Given the description of an element on the screen output the (x, y) to click on. 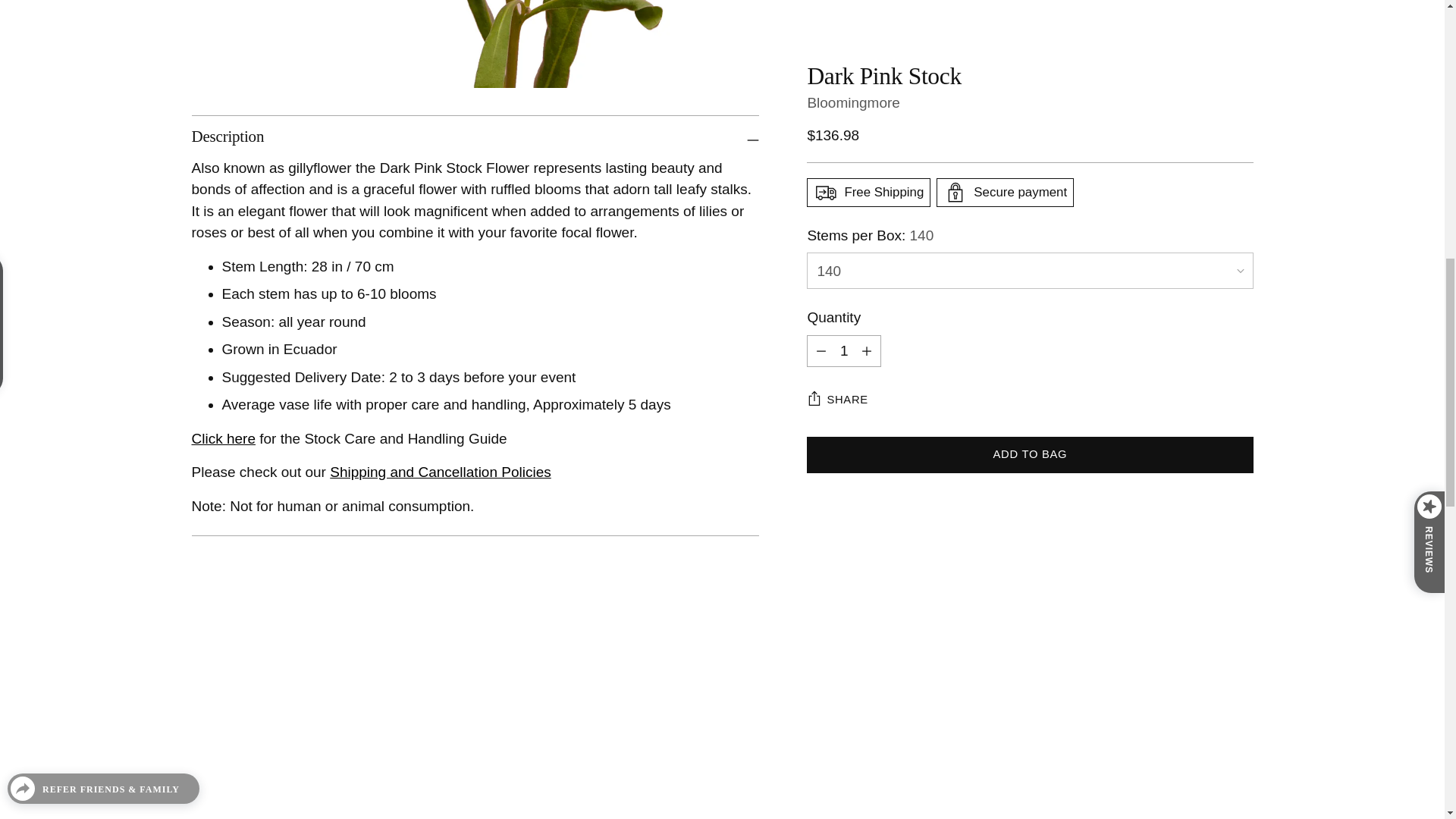
Shipping and Cancellation Policies (440, 471)
Stock Care and Handling Guide (222, 438)
